Given the description of an element on the screen output the (x, y) to click on. 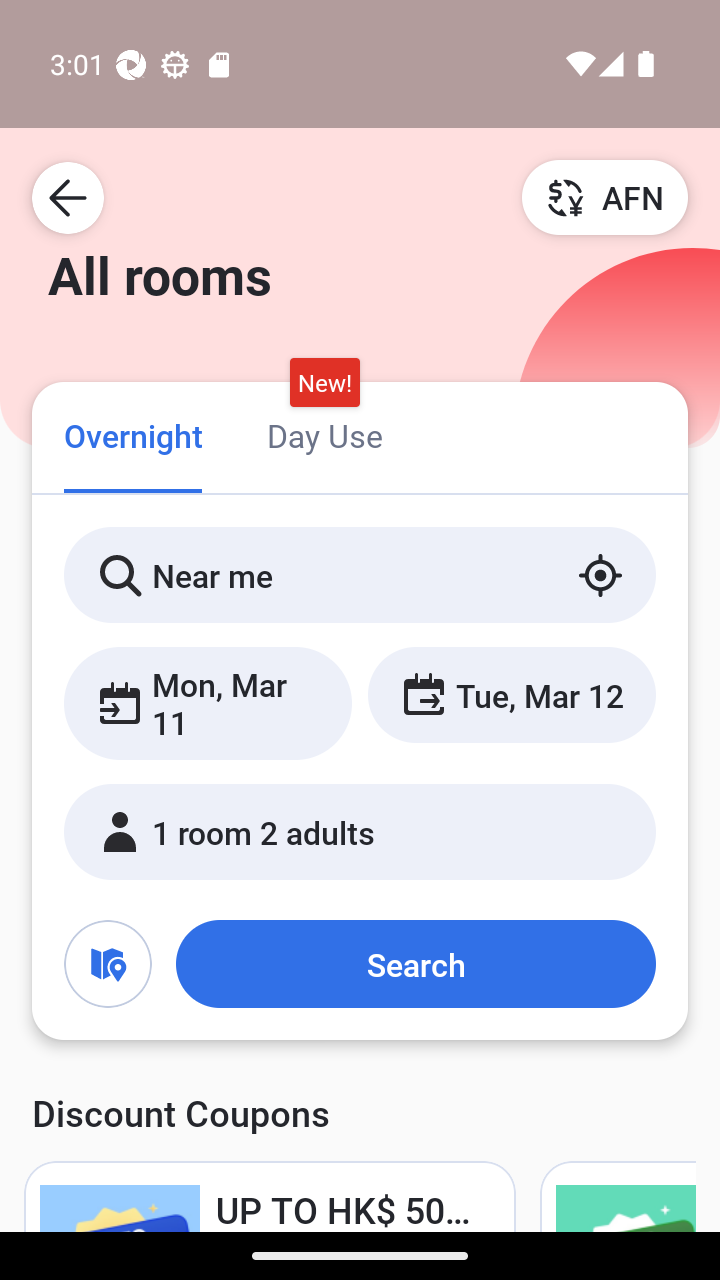
AFN (605, 197)
New! (324, 383)
Day Use (324, 434)
Near me (359, 575)
Mon, Mar 11 (208, 703)
Tue, Mar 12 (511, 694)
1 room 2 adults (359, 831)
Search (415, 964)
